Given the description of an element on the screen output the (x, y) to click on. 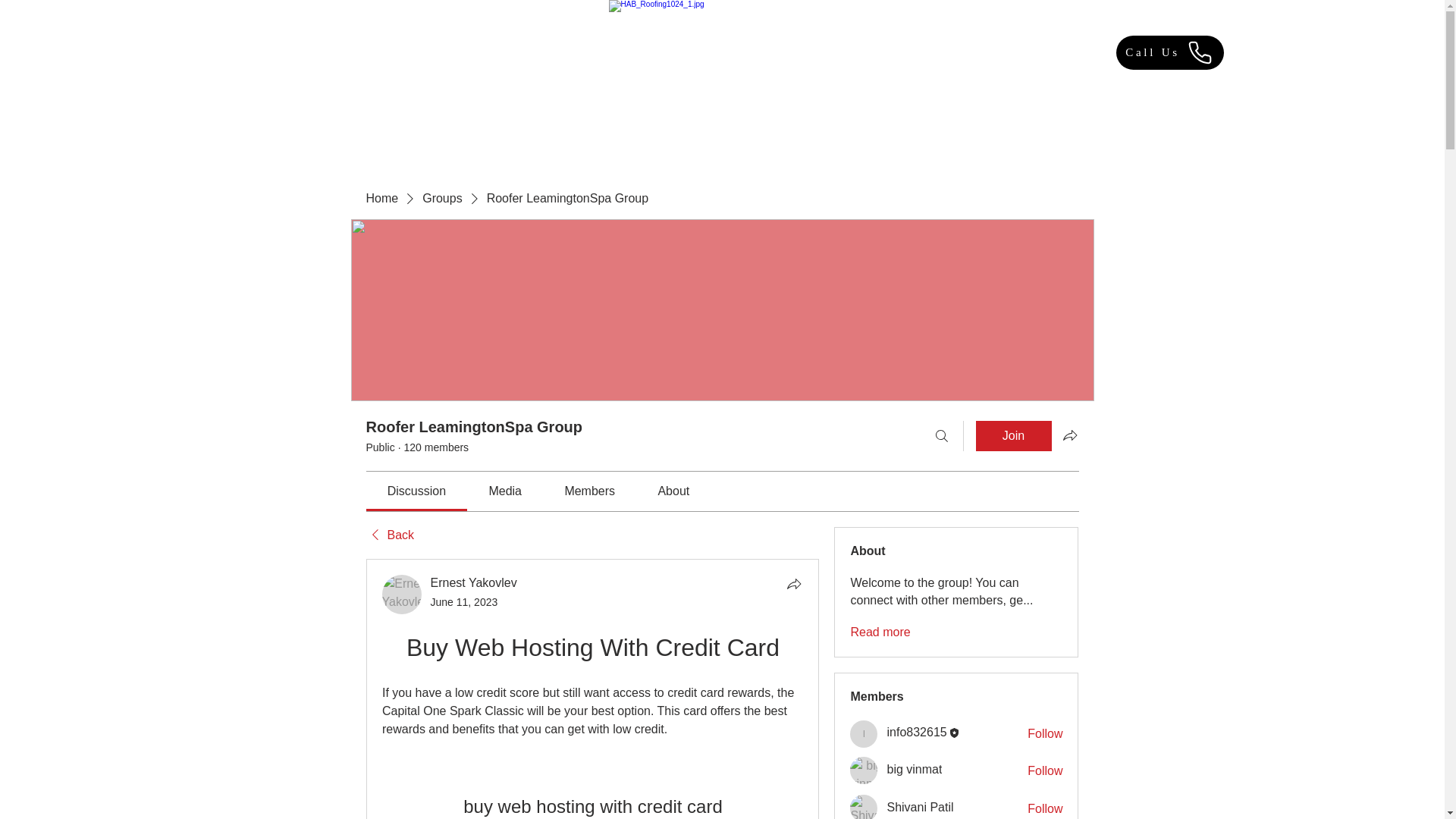
Back (389, 535)
Call Us (1170, 52)
Ernest Yakovlev (401, 594)
Home (381, 198)
June 11, 2023 (463, 602)
info832615 (863, 733)
Shivani Patil (863, 806)
Read more (880, 632)
info832615 (916, 731)
Join (1013, 435)
Follow (1044, 770)
big vinmat (863, 769)
Groups (441, 198)
Follow (1044, 808)
Follow (1044, 733)
